Given the description of an element on the screen output the (x, y) to click on. 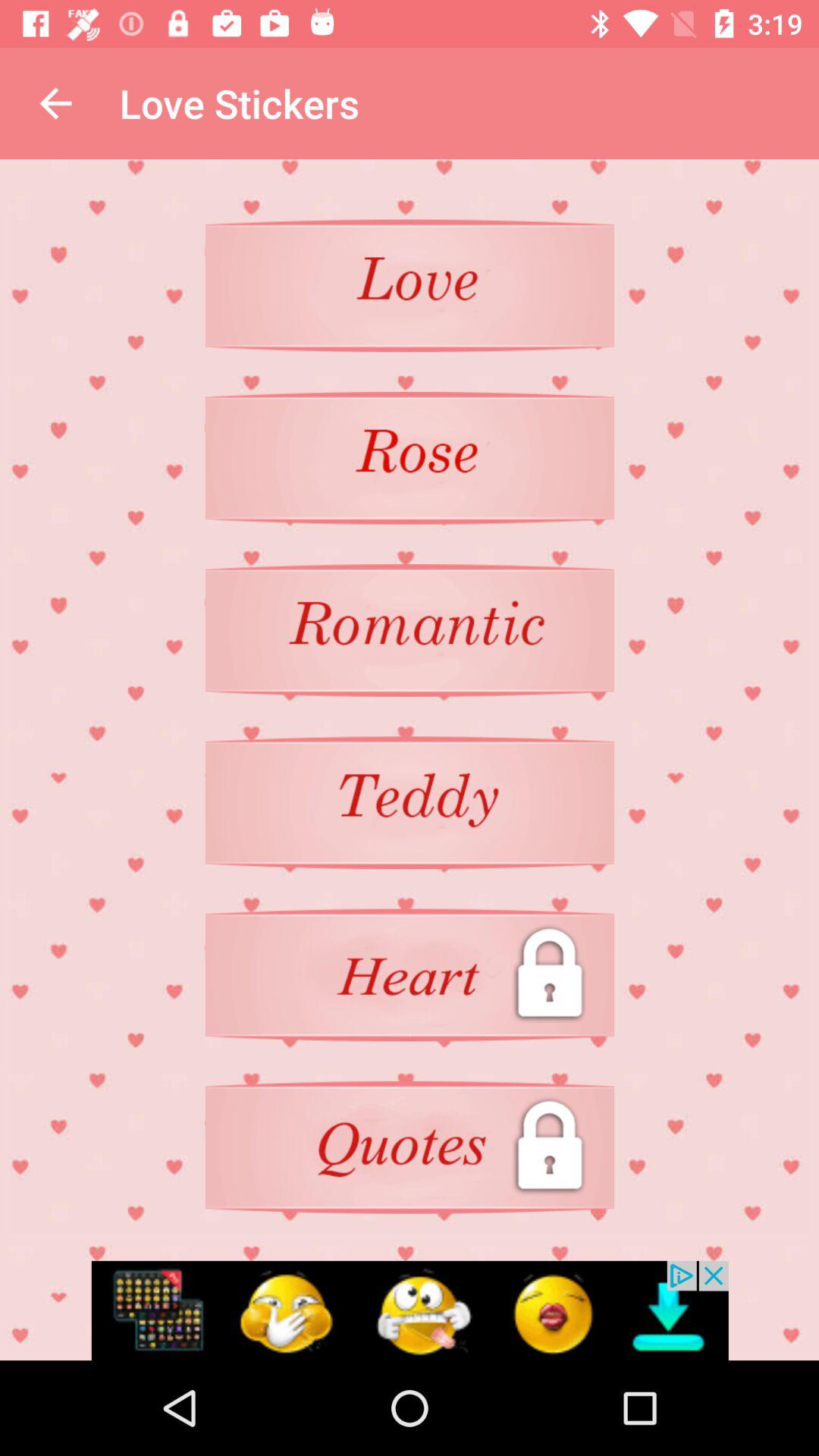
unlock heart level (409, 974)
